Given the description of an element on the screen output the (x, y) to click on. 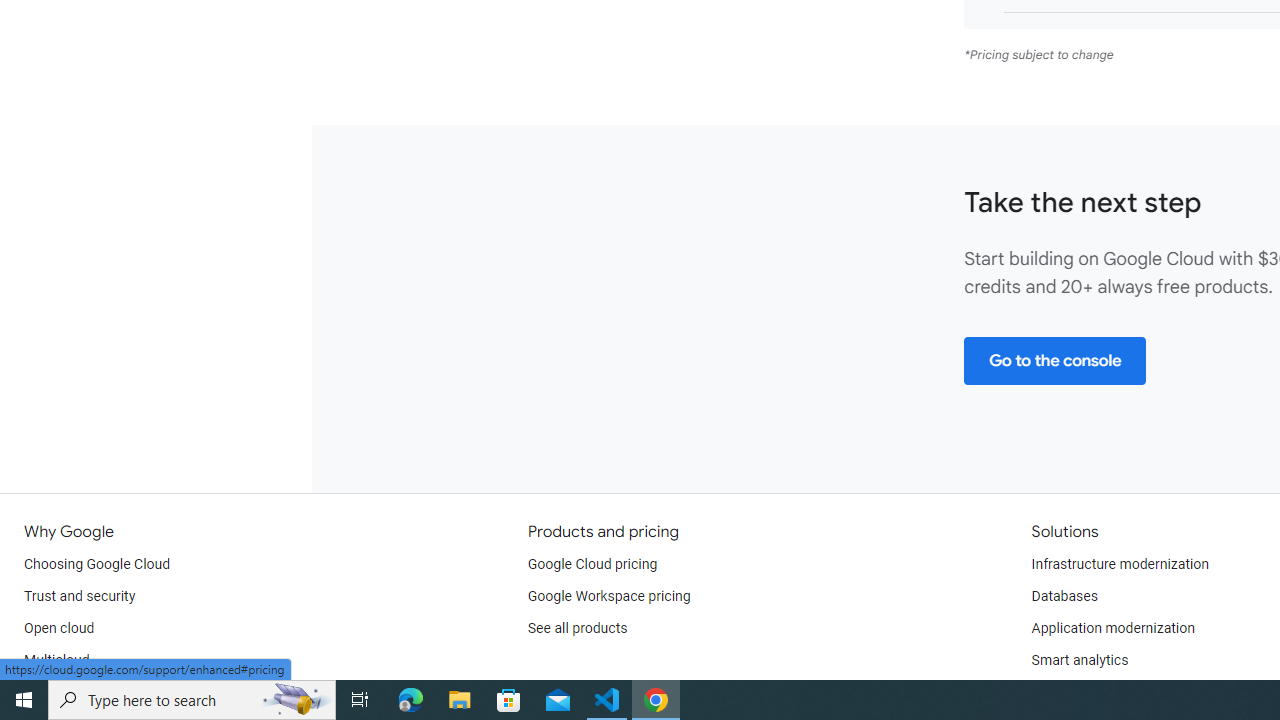
Artificial Intelligence (1094, 692)
Choosing Google Cloud (97, 564)
Application modernization (1112, 628)
Google Cloud pricing (592, 564)
Infrastructure modernization (1119, 564)
Go to the console (1054, 360)
See all products (577, 628)
Databases (1064, 596)
Trust and security (79, 596)
Multicloud (56, 659)
Open cloud (59, 628)
Google Workspace pricing (609, 596)
Global infrastructure (88, 692)
Smart analytics (1079, 659)
